Given the description of an element on the screen output the (x, y) to click on. 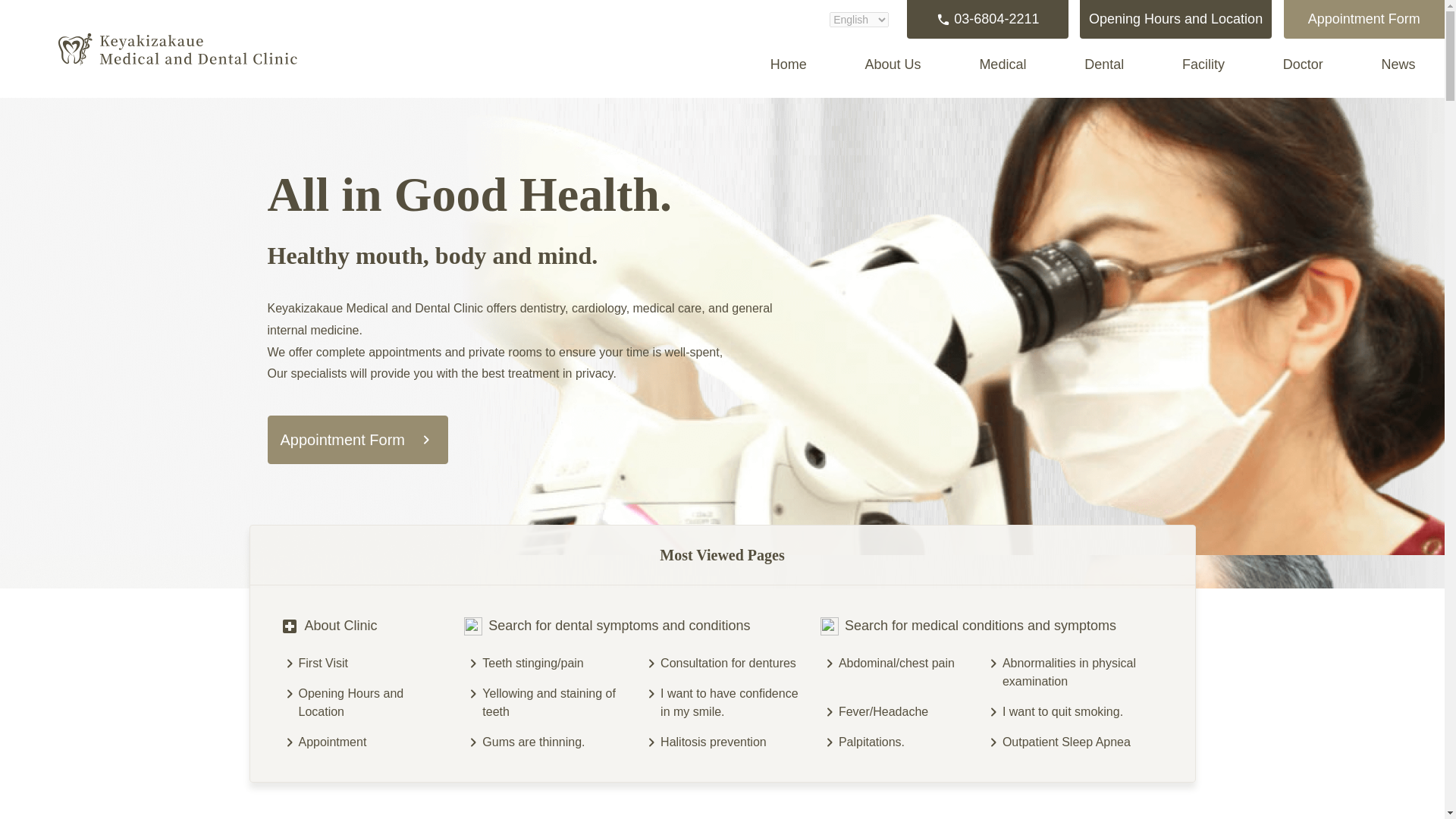
Appointment (375, 742)
Yellowing and staining of teeth (555, 702)
Palpitations. (905, 742)
News (1398, 64)
I want to quit smoking. (1083, 711)
Doctor (1302, 64)
Outpatient Sleep Apnea (1083, 742)
Dental (1104, 64)
Home (788, 64)
Consultation for dentures (734, 663)
